Given the description of an element on the screen output the (x, y) to click on. 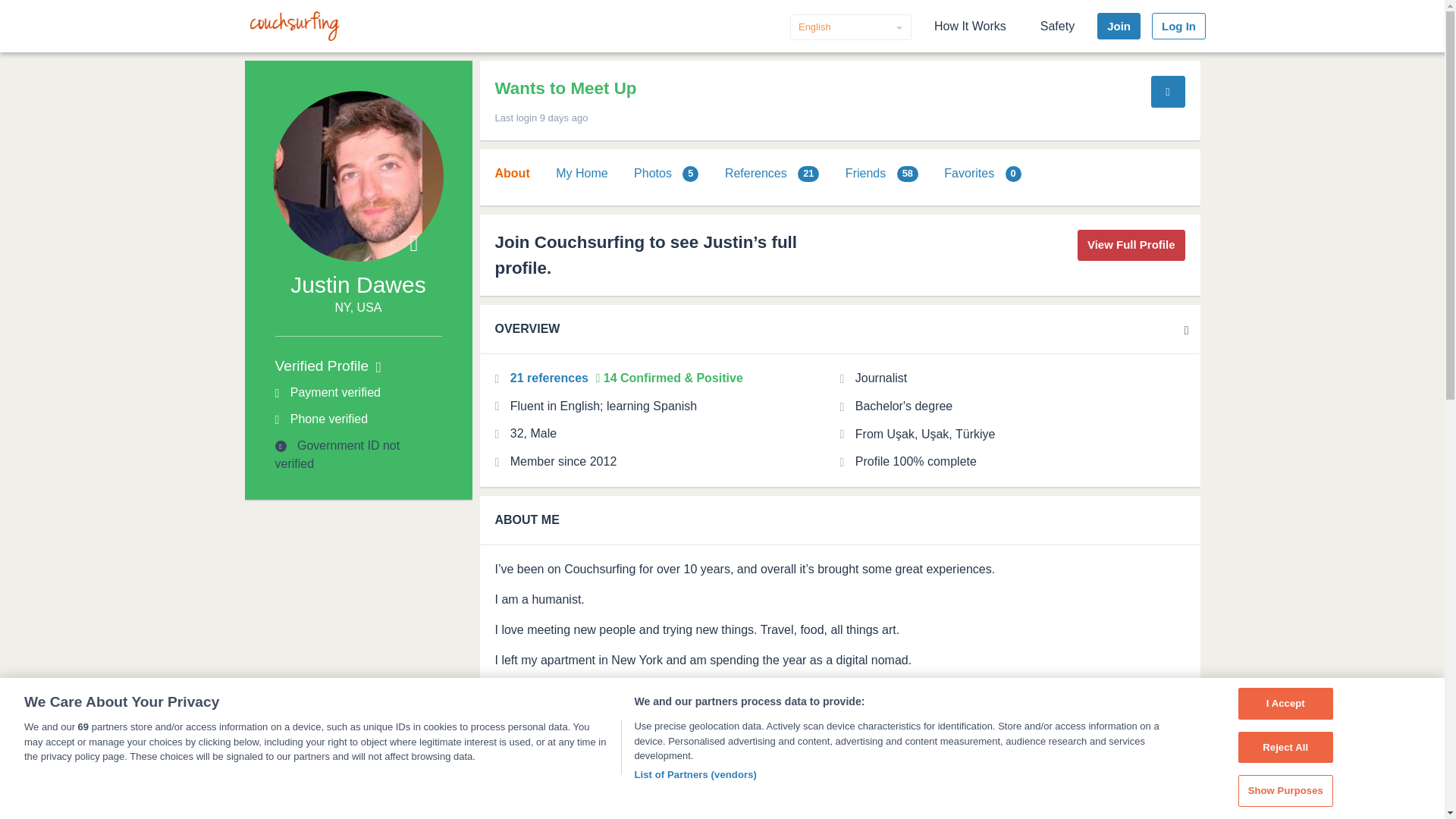
Couchsurfing (294, 25)
About (512, 173)
How It Works (970, 26)
NY, USA (358, 307)
Justin Dawes (357, 284)
I Accept (1286, 703)
Photos 5 (665, 173)
Friends 58 (881, 173)
21 references (551, 377)
Log In (1178, 26)
Safety (1057, 26)
Favorites 0 (981, 173)
My Home (581, 173)
References 21 (772, 173)
Join (1118, 26)
